Given the description of an element on the screen output the (x, y) to click on. 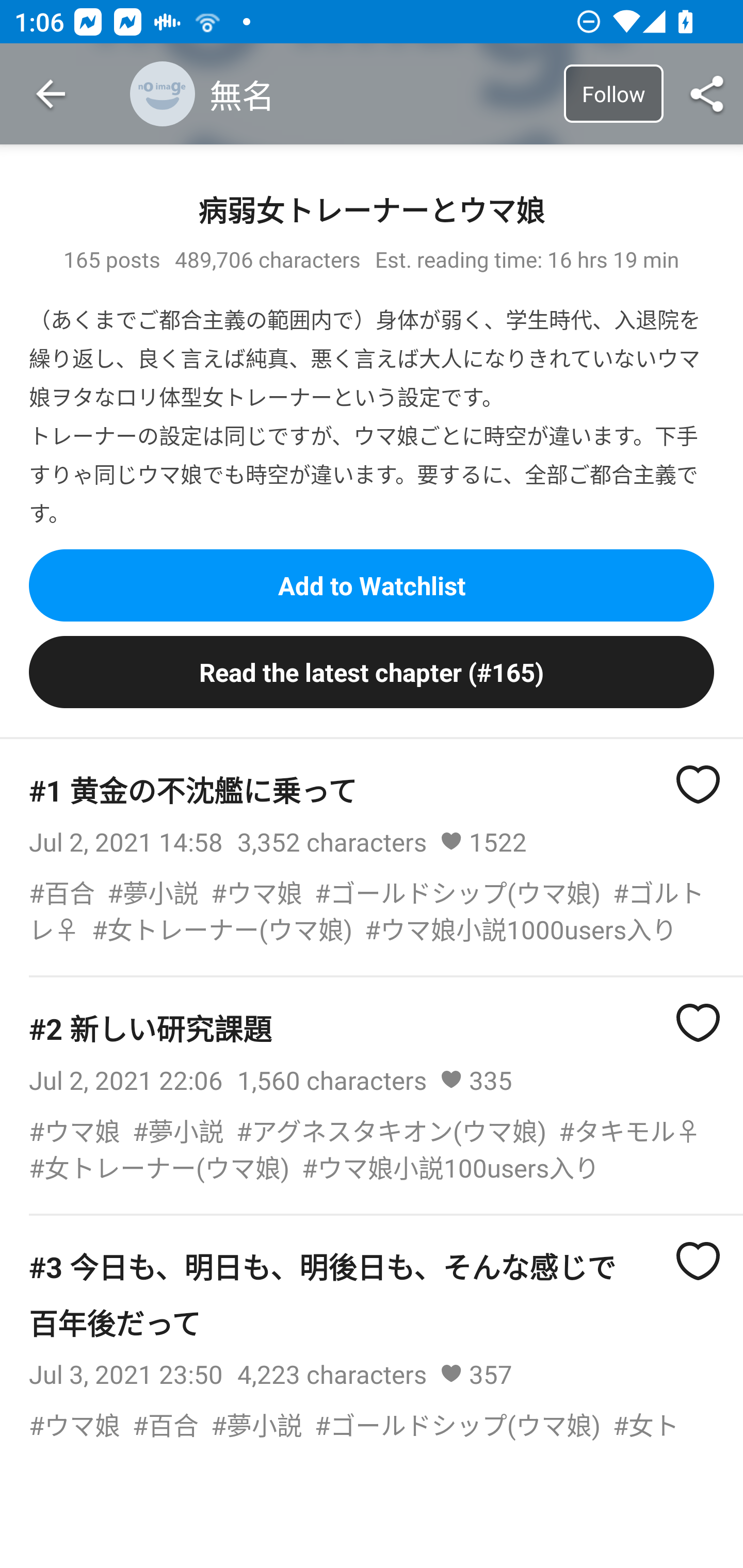
Navigate up (50, 93)
Share (706, 93)
無名 (343, 94)
Follow (613, 93)
Add to Watchlist (371, 584)
Read the latest chapter (#165) (371, 672)
